Given the description of an element on the screen output the (x, y) to click on. 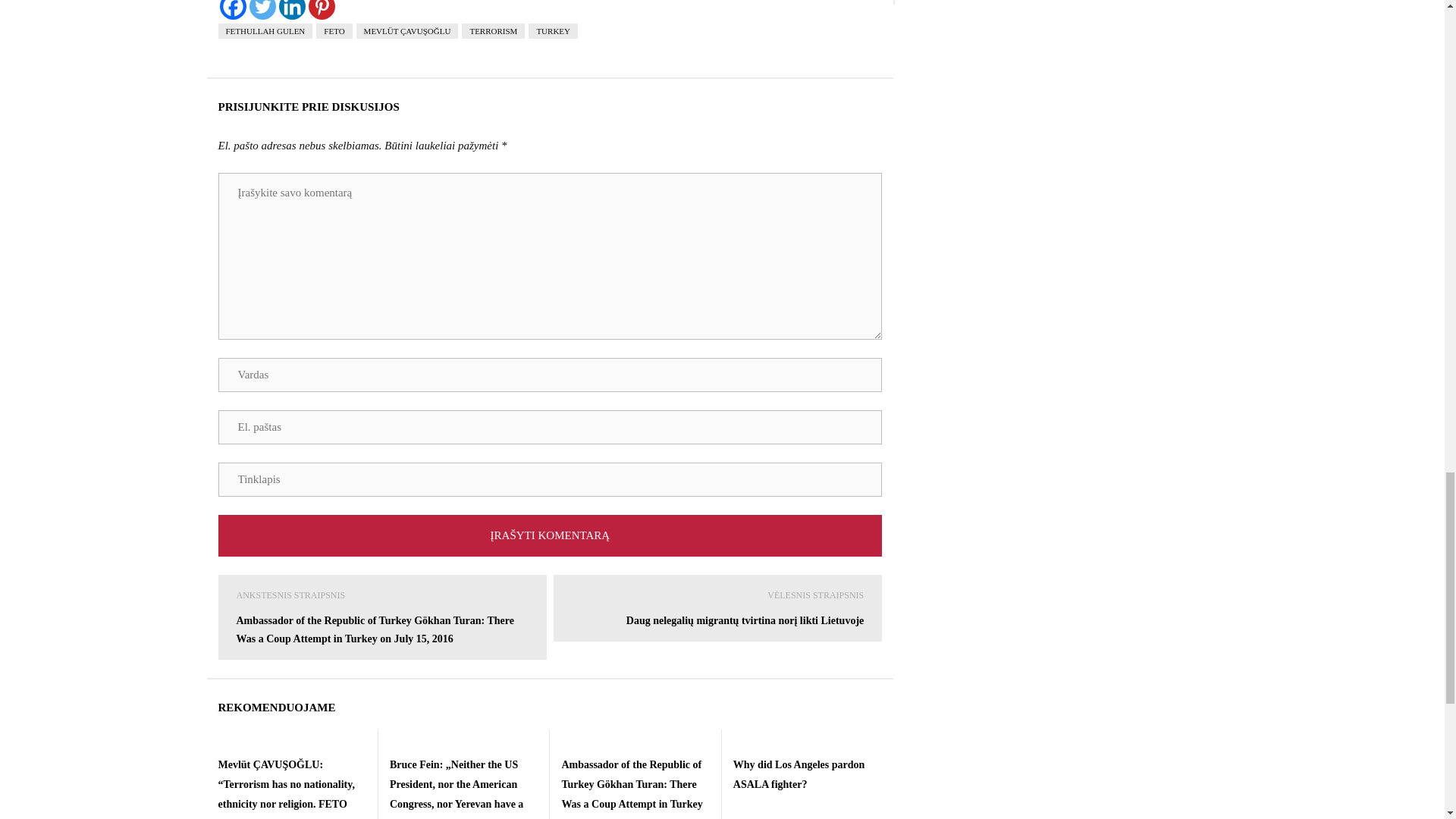
Twitter (261, 9)
Pinterest (320, 9)
Linkedin (292, 9)
Facebook (232, 9)
